Given the description of an element on the screen output the (x, y) to click on. 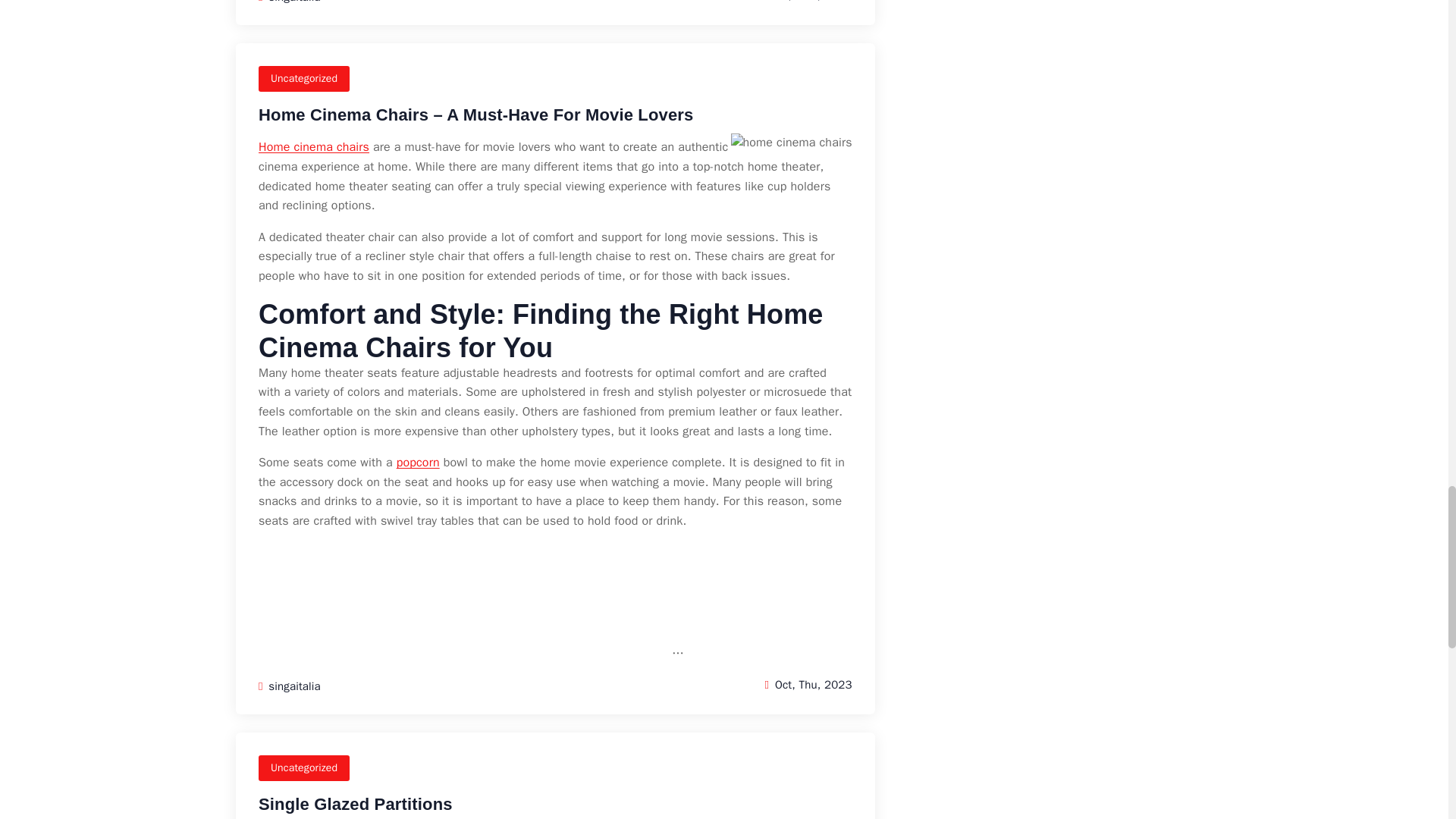
singaitalia (289, 1)
Uncategorized (304, 78)
Oct, Mon, 2023 (806, 1)
